Given the description of an element on the screen output the (x, y) to click on. 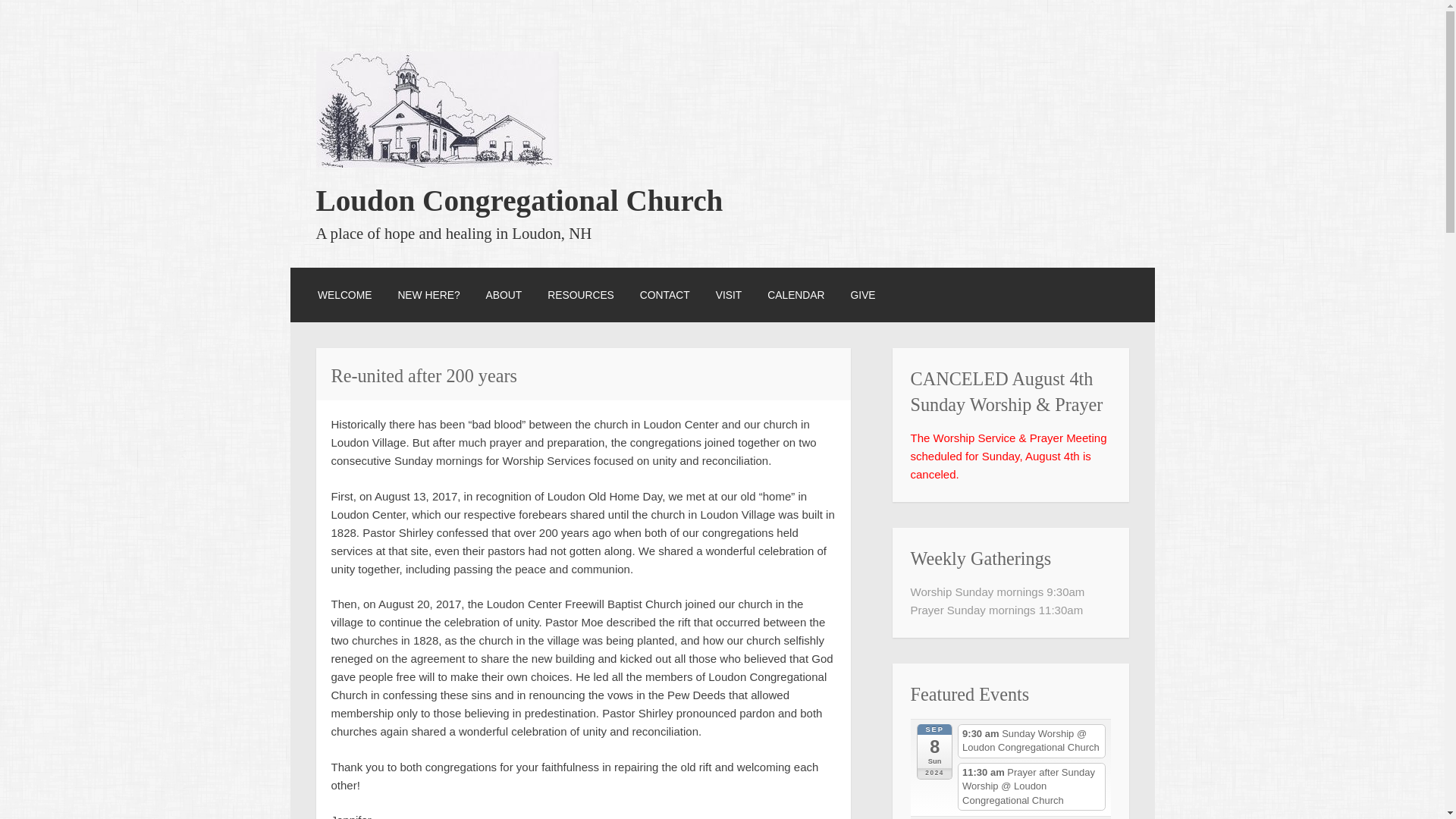
Loudon Congregational Church (436, 163)
ABOUT (504, 294)
NEW HERE? (428, 294)
WELCOME (344, 294)
Loudon Congregational Church (518, 200)
Loudon Congregational Church (518, 200)
RESOURCES (580, 294)
